Given the description of an element on the screen output the (x, y) to click on. 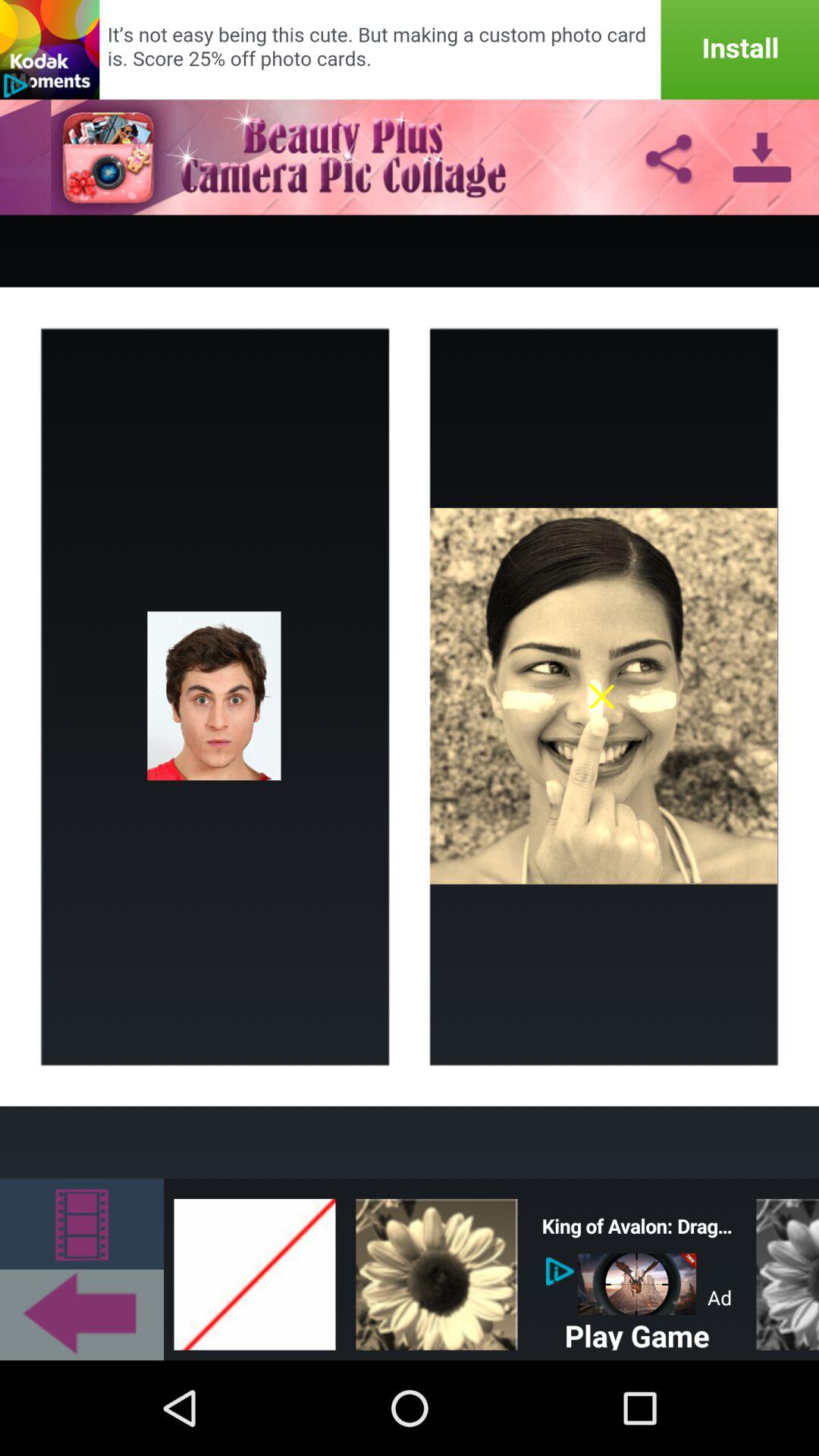
click on the word which is slight top right side of the play game (719, 1297)
click on the king of avalon drag (637, 1225)
select the bottom row of third image (436, 1270)
image right to play game option (782, 1270)
click on image right to left arrow at bottom left (254, 1270)
choose the download icon on top right of page (761, 156)
